Given the description of an element on the screen output the (x, y) to click on. 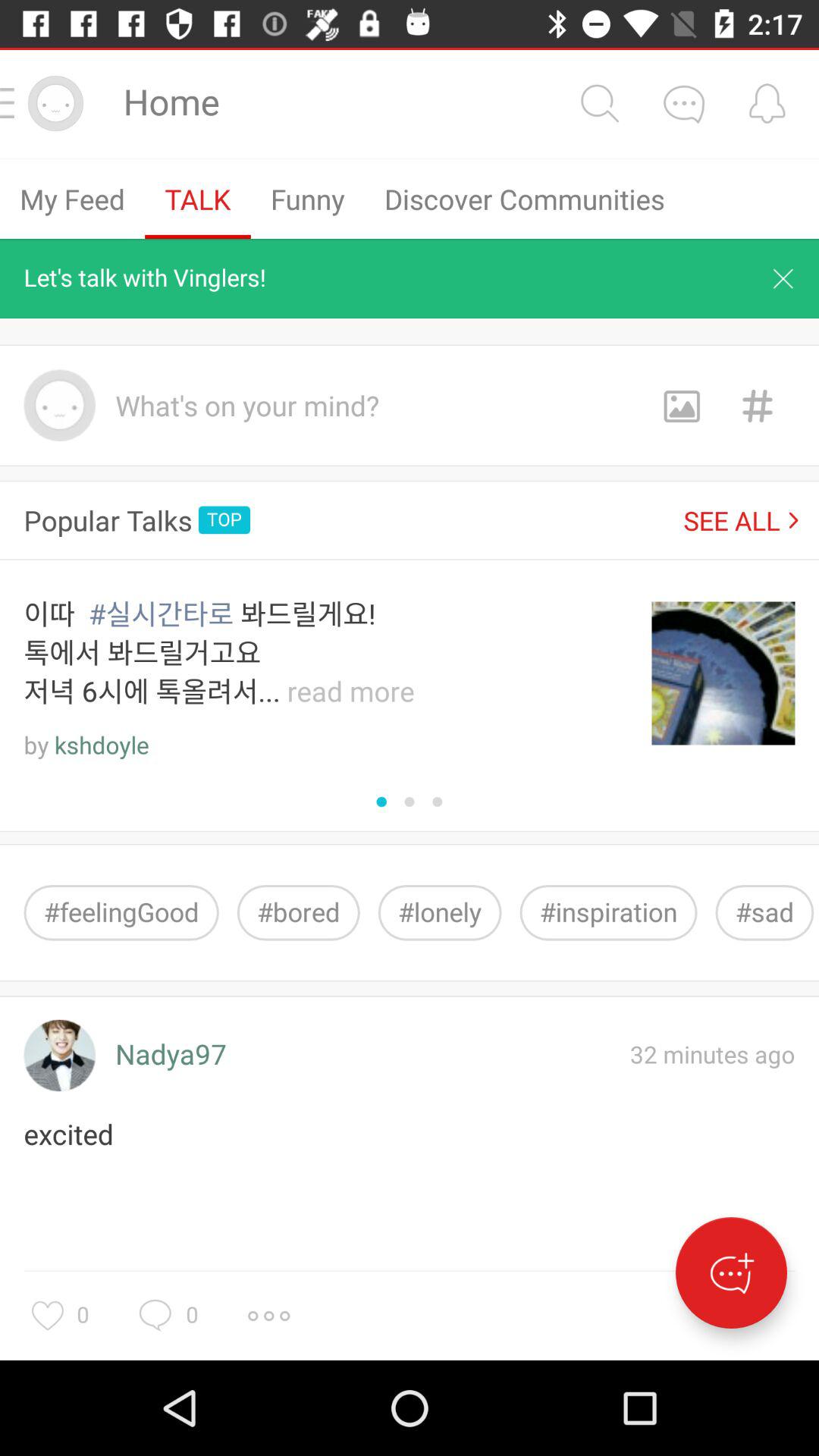
chat with (683, 103)
